Given the description of an element on the screen output the (x, y) to click on. 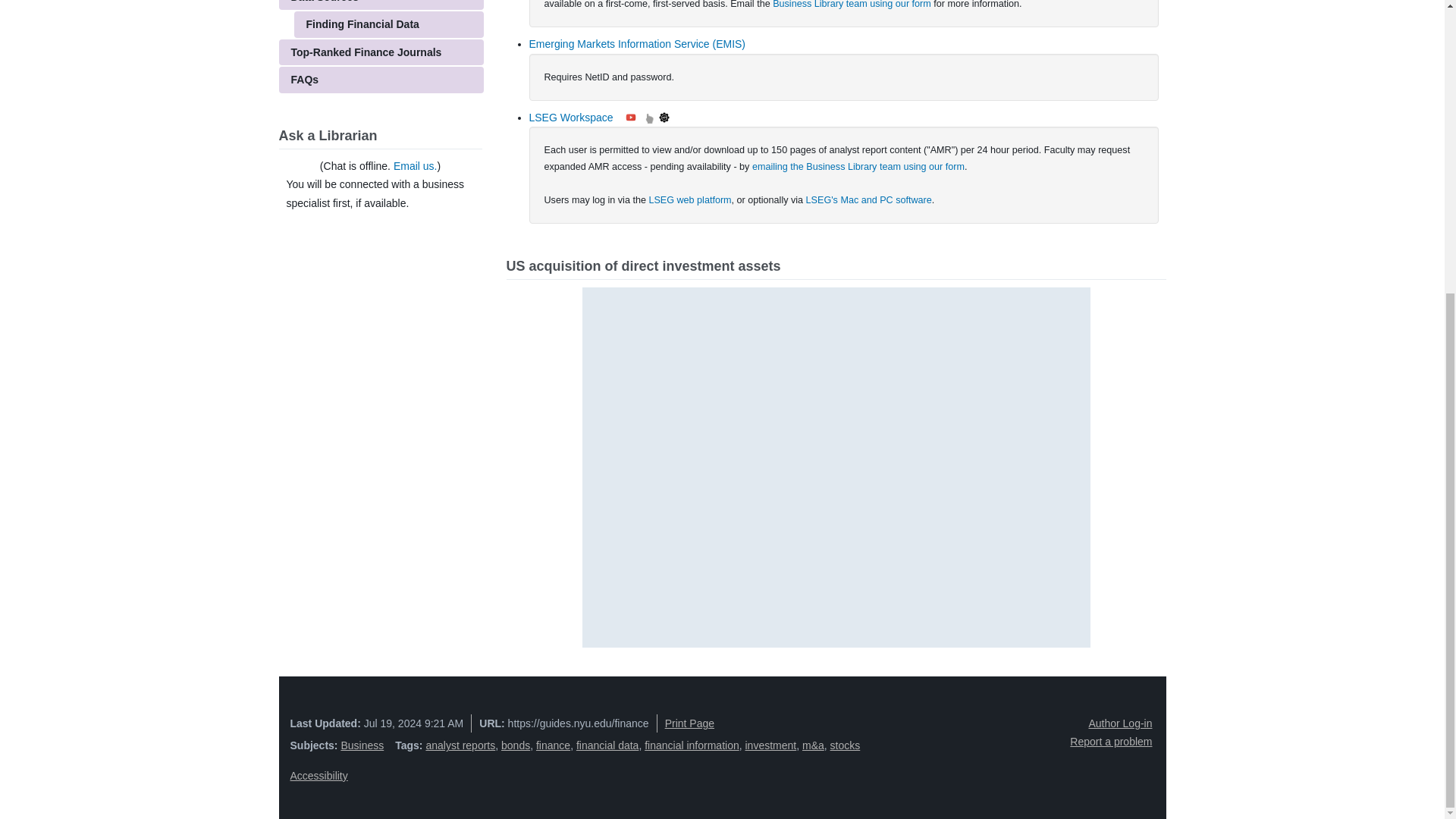
Business Library team using our form (852, 4)
FAQs (381, 79)
Finding Financial Data (388, 24)
Email us. (415, 165)
Top-Ranked Finance Journals (381, 51)
Data Sources (381, 5)
LSEG Workspace (570, 117)
emailing the Business Library team using our form (857, 166)
